Given the description of an element on the screen output the (x, y) to click on. 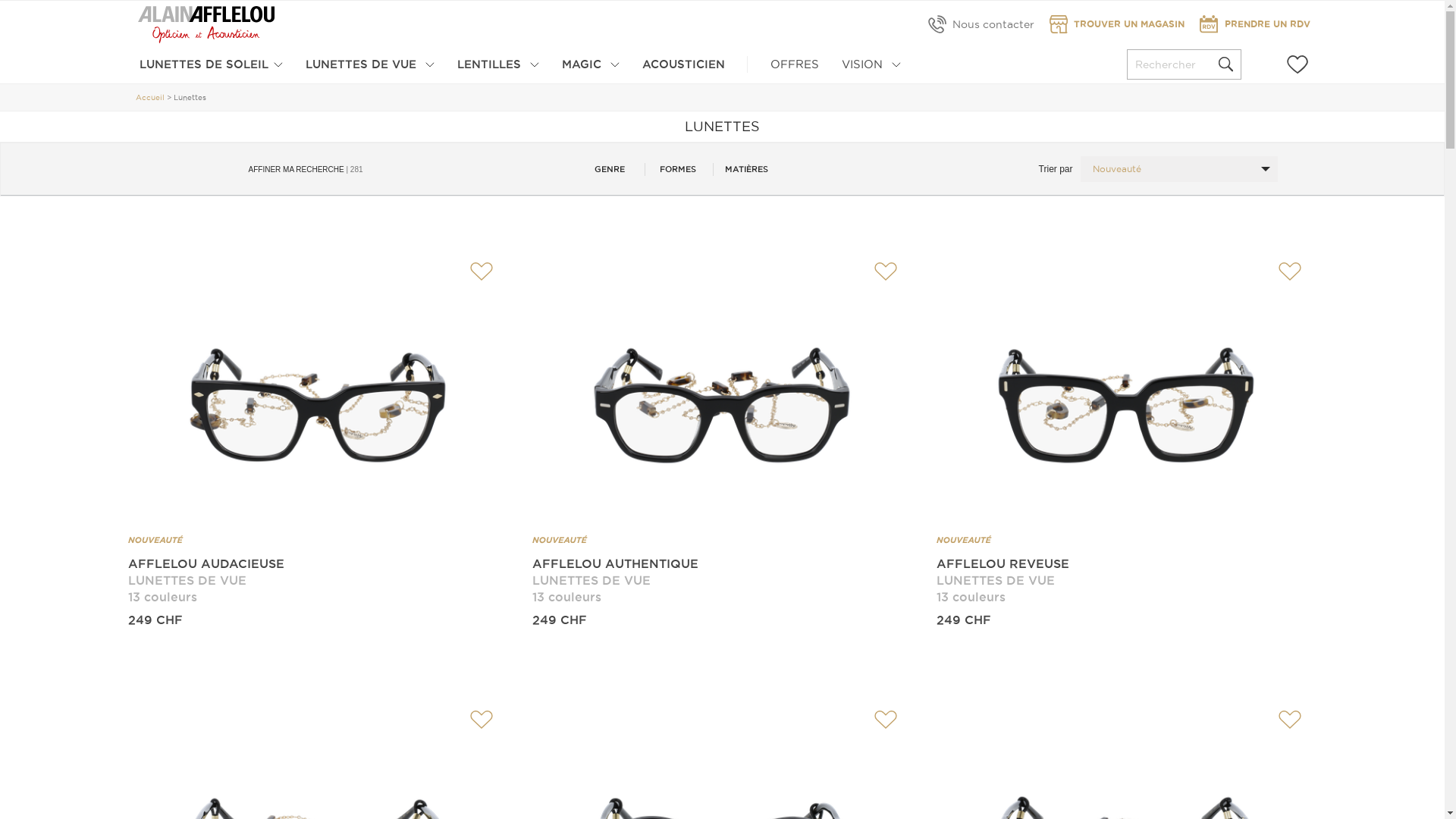
FORMES Element type: text (677, 168)
Lunettes Element type: text (189, 97)
Accueil Element type: text (149, 97)
1 Element type: text (703, 525)
LUNETTES DE SOLEIL Element type: text (210, 64)
MAGIC Element type: text (590, 64)
LENTILLES Element type: text (498, 64)
LUNETTES DE VUE Element type: text (369, 64)
LUNETTES DE VUE femme AUDACIEUSE noir Vue de face Element type: hover (317, 405)
LUNETTES DE VUE femme REVEUSE noir Vue de face Element type: hover (1126, 405)
TROUVER UN MAGASIN Element type: text (1116, 24)
OFFRES Element type: text (794, 64)
GENRE Element type: text (609, 168)
LUNETTES DE VUE femme AUTHENTIQUE noir Vue de face Element type: hover (722, 405)
Nous contacter Element type: text (981, 24)
AFFLELOU AUTHENTIQUE
LUNETTES DE VUE Element type: text (722, 571)
ACOUSTICIEN Element type: text (683, 64)
AFFLELOU AUDACIEUSE
LUNETTES DE VUE Element type: text (317, 571)
2 Element type: text (766, 525)
AFFLELOU REVEUSE
LUNETTES DE VUE Element type: text (1126, 571)
Afflelou Element type: text (206, 24)
PRENDRE UN RDV Element type: text (1254, 24)
VISION Element type: text (870, 64)
